Given the description of an element on the screen output the (x, y) to click on. 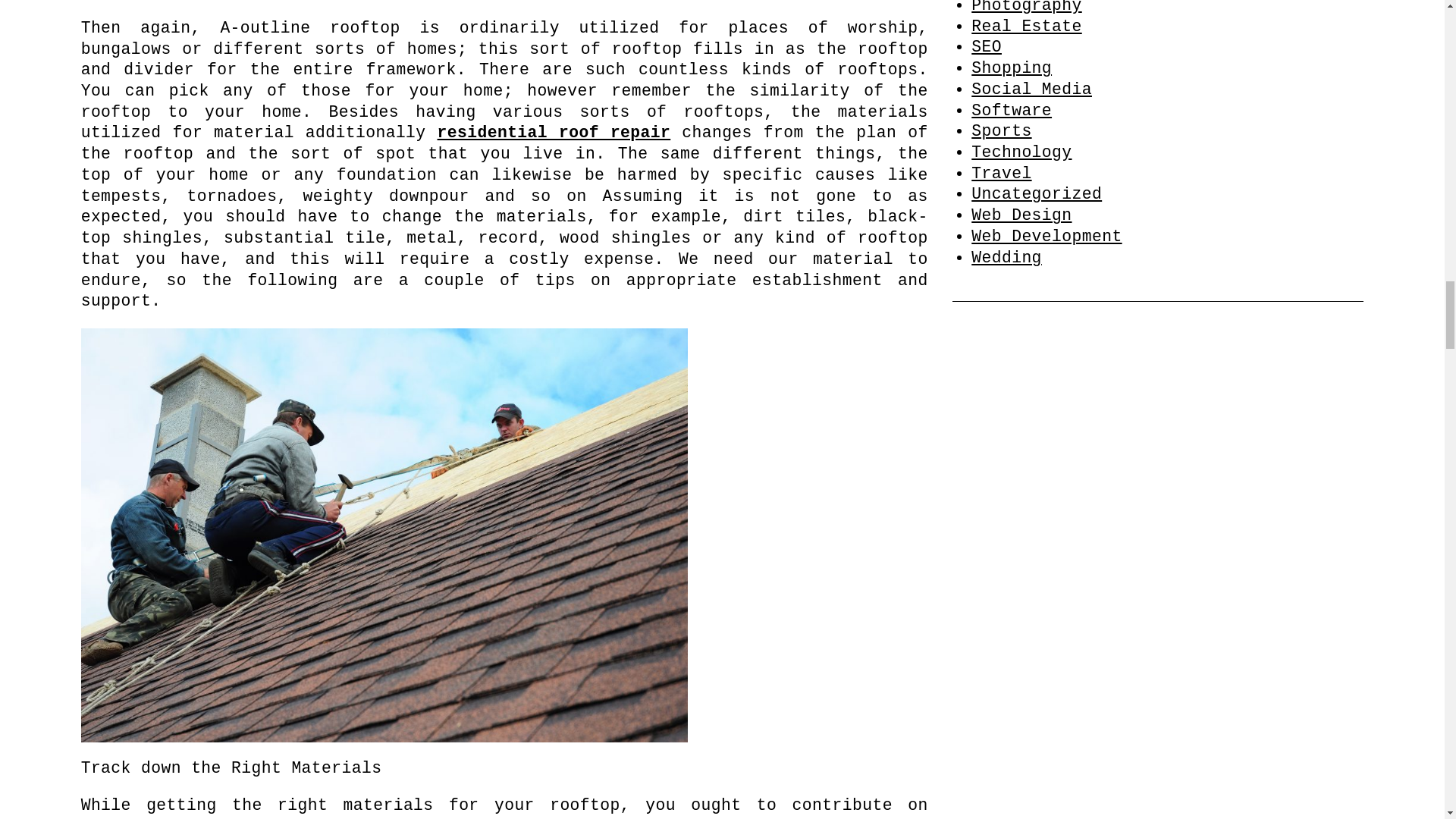
residential roof repair (554, 132)
